Given the description of an element on the screen output the (x, y) to click on. 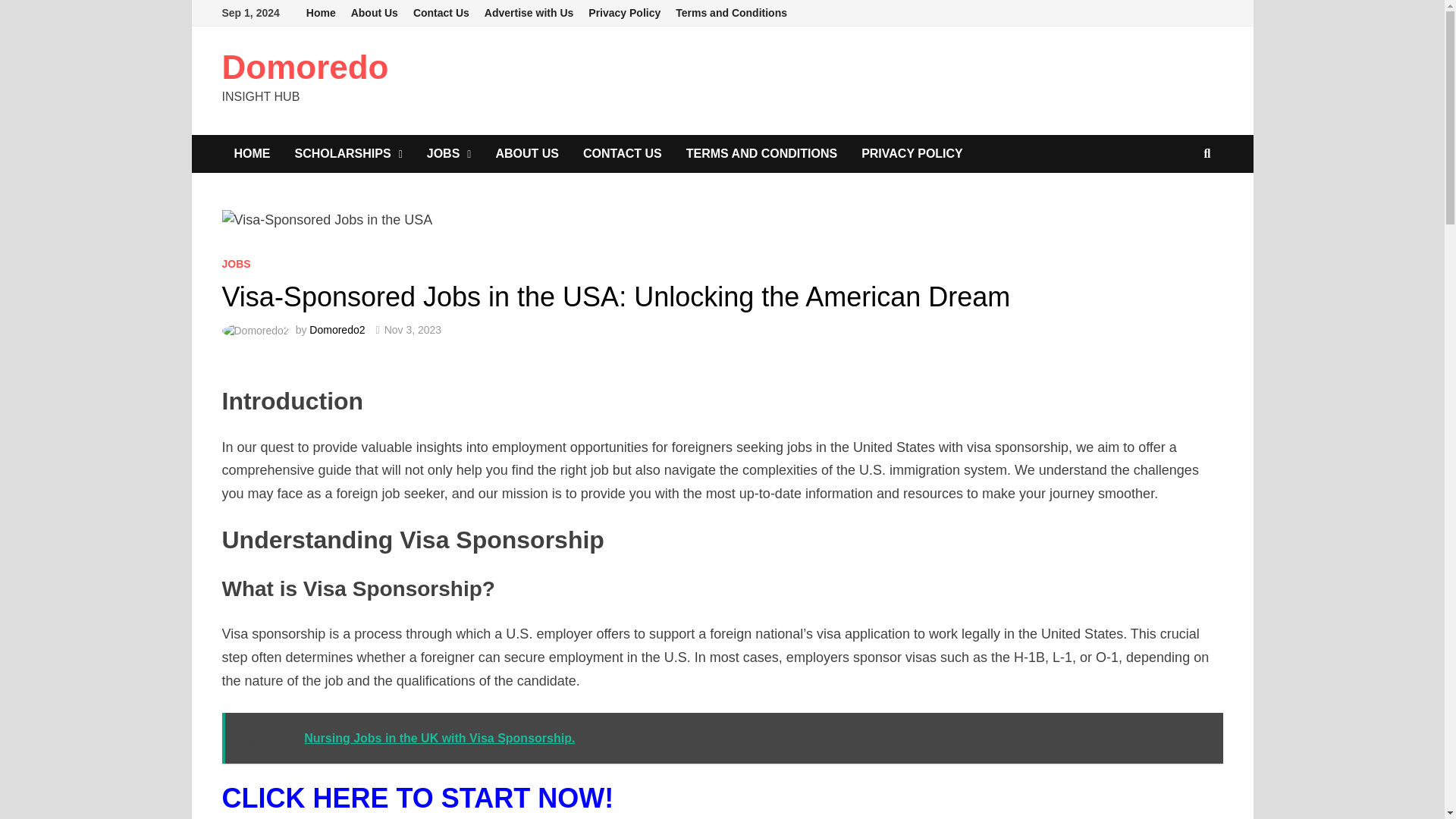
Terms and Conditions (731, 13)
Domoredo2 (336, 329)
CONTACT US (622, 153)
Privacy Policy (624, 13)
JOBS (448, 153)
CLICK HERE TO START NOW! (416, 798)
TERMS AND CONDITIONS (761, 153)
About Us (374, 13)
Home (320, 13)
See Also :  Nursing Jobs in the UK with Visa Sponsorship. (722, 737)
